Given the description of an element on the screen output the (x, y) to click on. 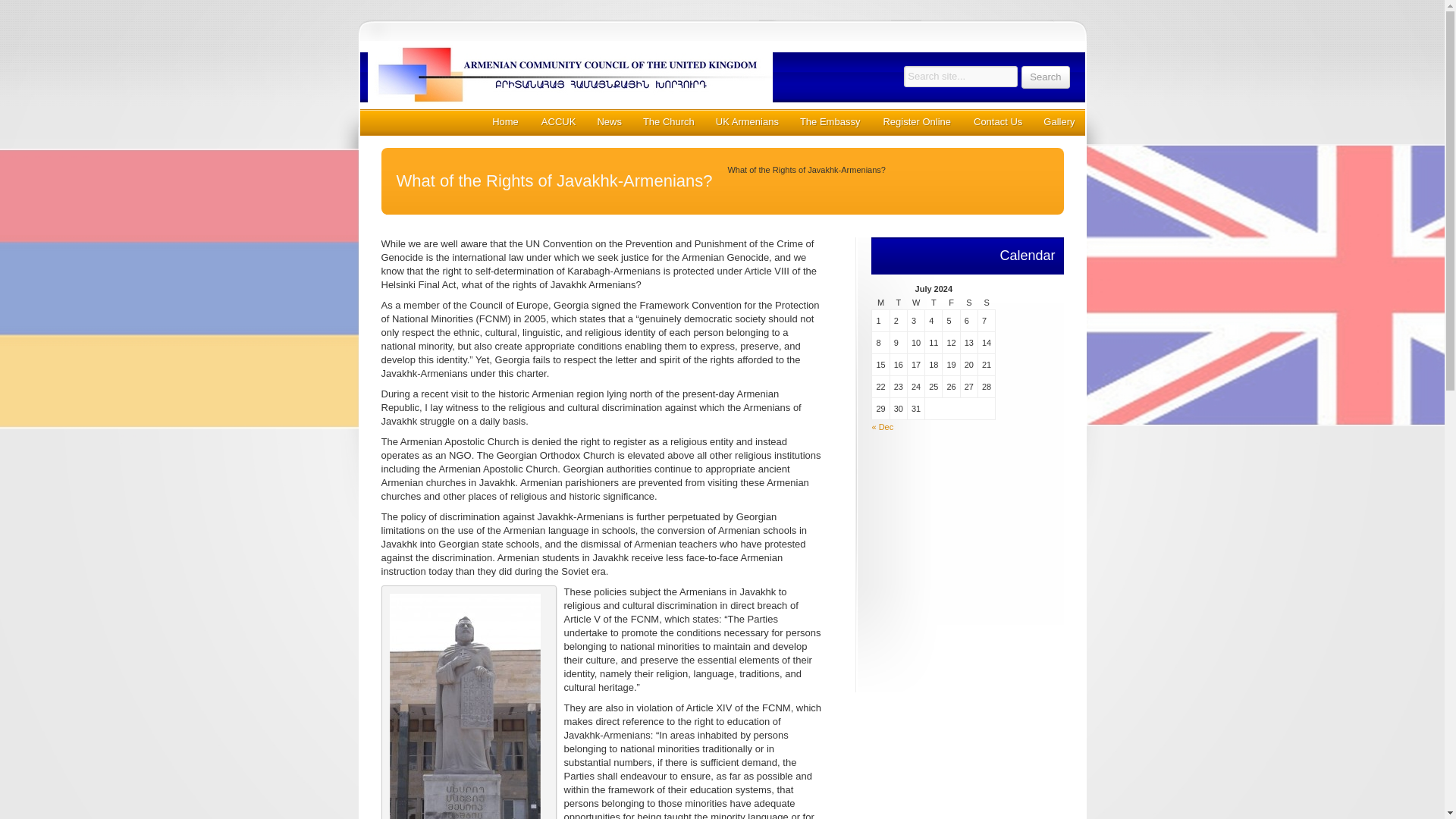
News (608, 121)
Armenian Community Council of the United Kingdom (613, 74)
Search (1045, 77)
The Church (667, 121)
ACCUK (557, 121)
Search site... (960, 76)
Home (504, 121)
UK Armenians (746, 121)
Search (1045, 77)
